Given the description of an element on the screen output the (x, y) to click on. 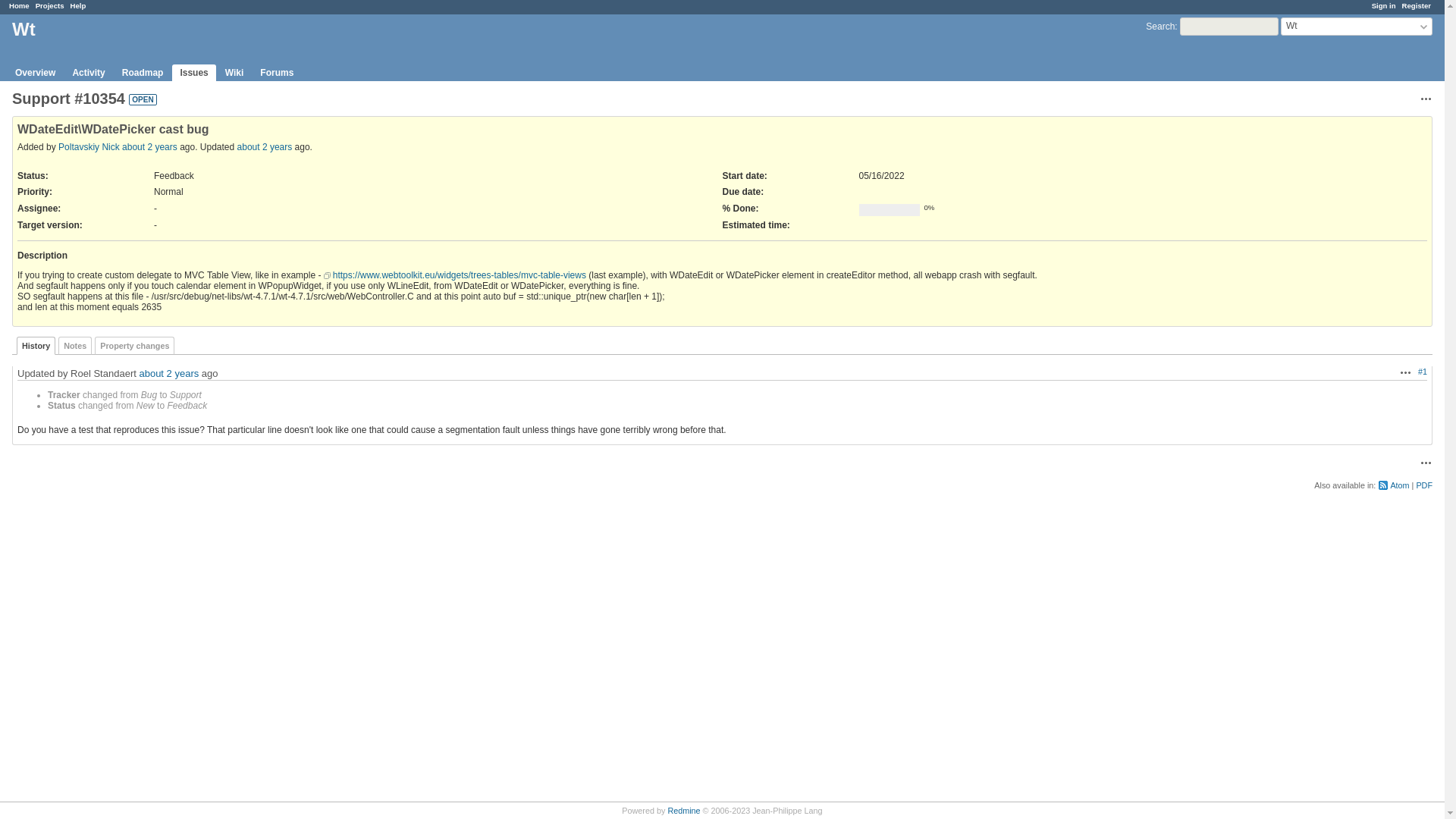
Activity (88, 72)
Actions (1405, 372)
about 2 years (168, 373)
Notes (74, 345)
Actions (1426, 98)
about 2 years (264, 146)
Projects (49, 5)
Wiki (233, 72)
Issues (193, 72)
Forums (276, 72)
PDF (1423, 484)
Home (18, 5)
Help (77, 5)
History (35, 345)
Overview (34, 72)
